Given the description of an element on the screen output the (x, y) to click on. 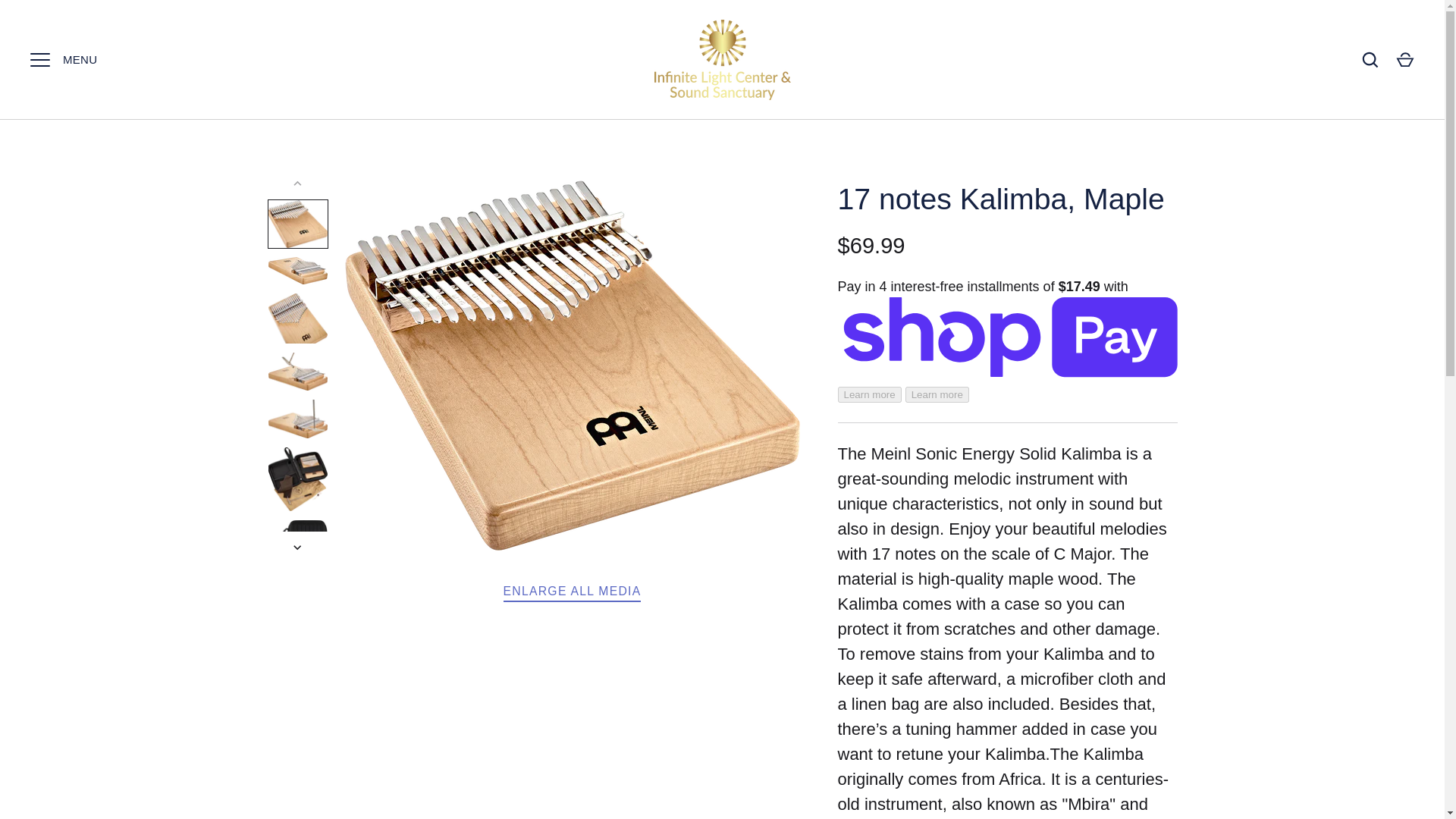
MENU (39, 59)
